Given the description of an element on the screen output the (x, y) to click on. 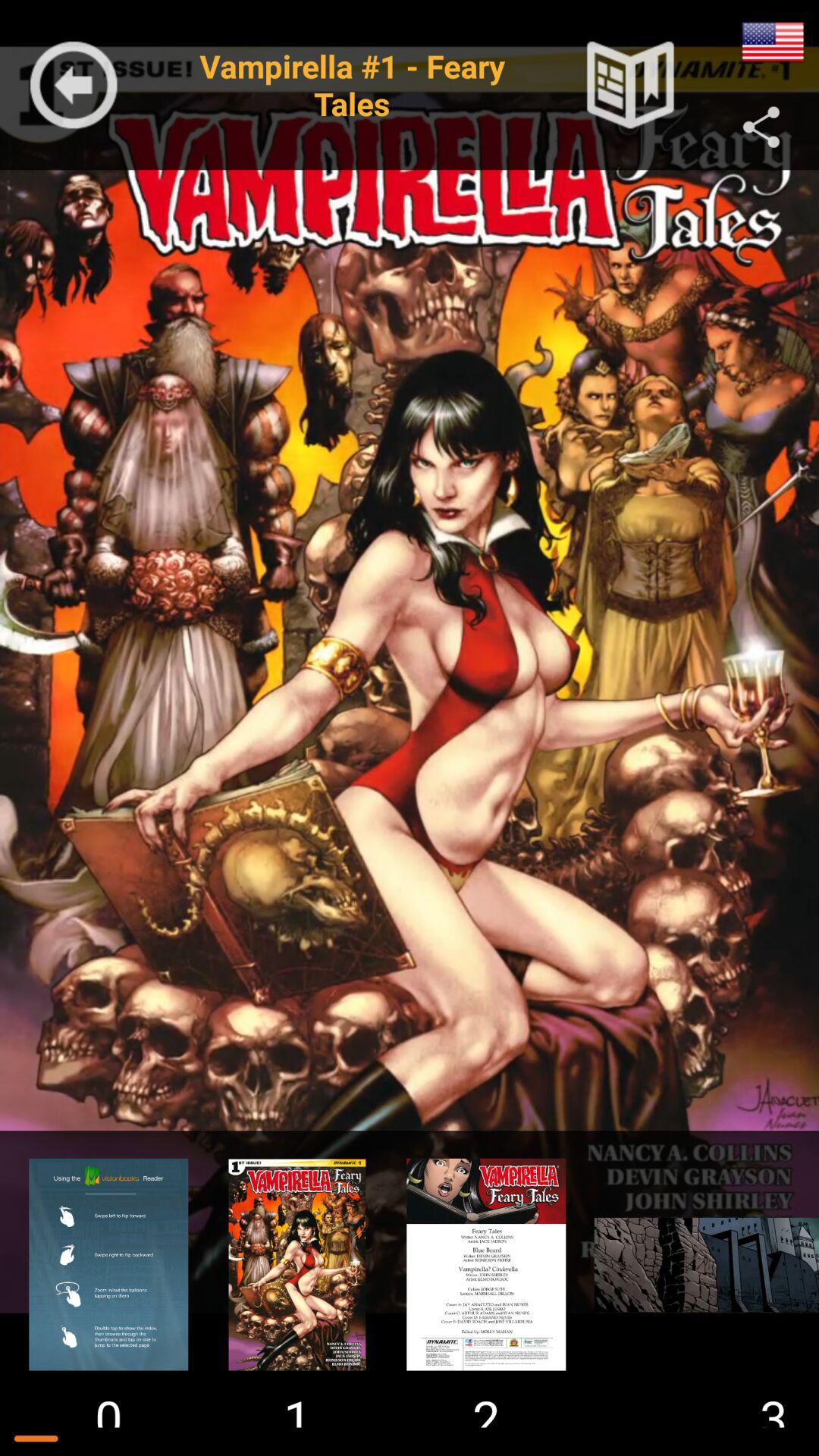
change the language (772, 42)
